Given the description of an element on the screen output the (x, y) to click on. 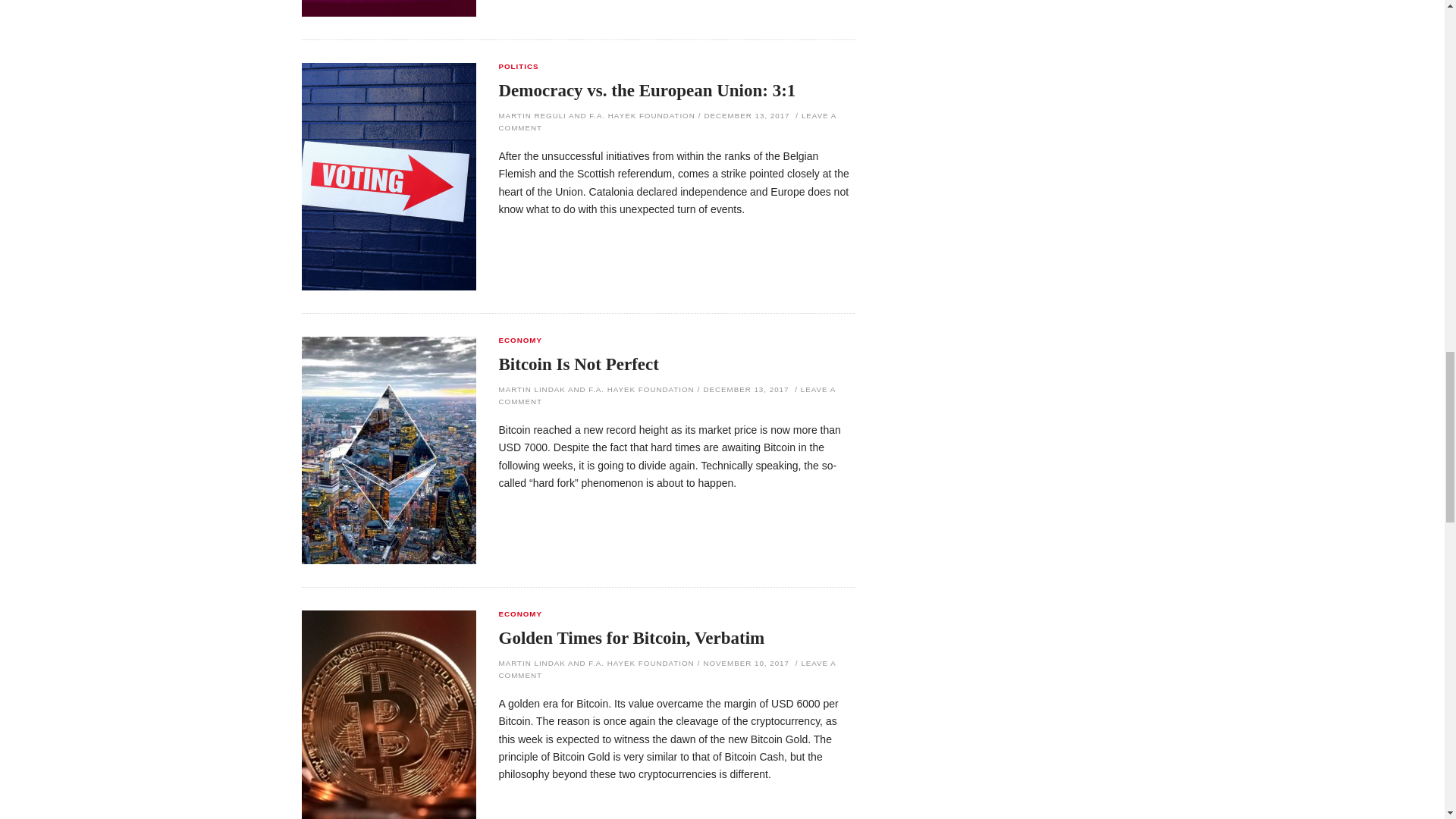
Posts by F.A. Hayek Foundation (641, 115)
Posts by Martin Lindak (532, 388)
Posts by Martin Reguli (532, 115)
